Given the description of an element on the screen output the (x, y) to click on. 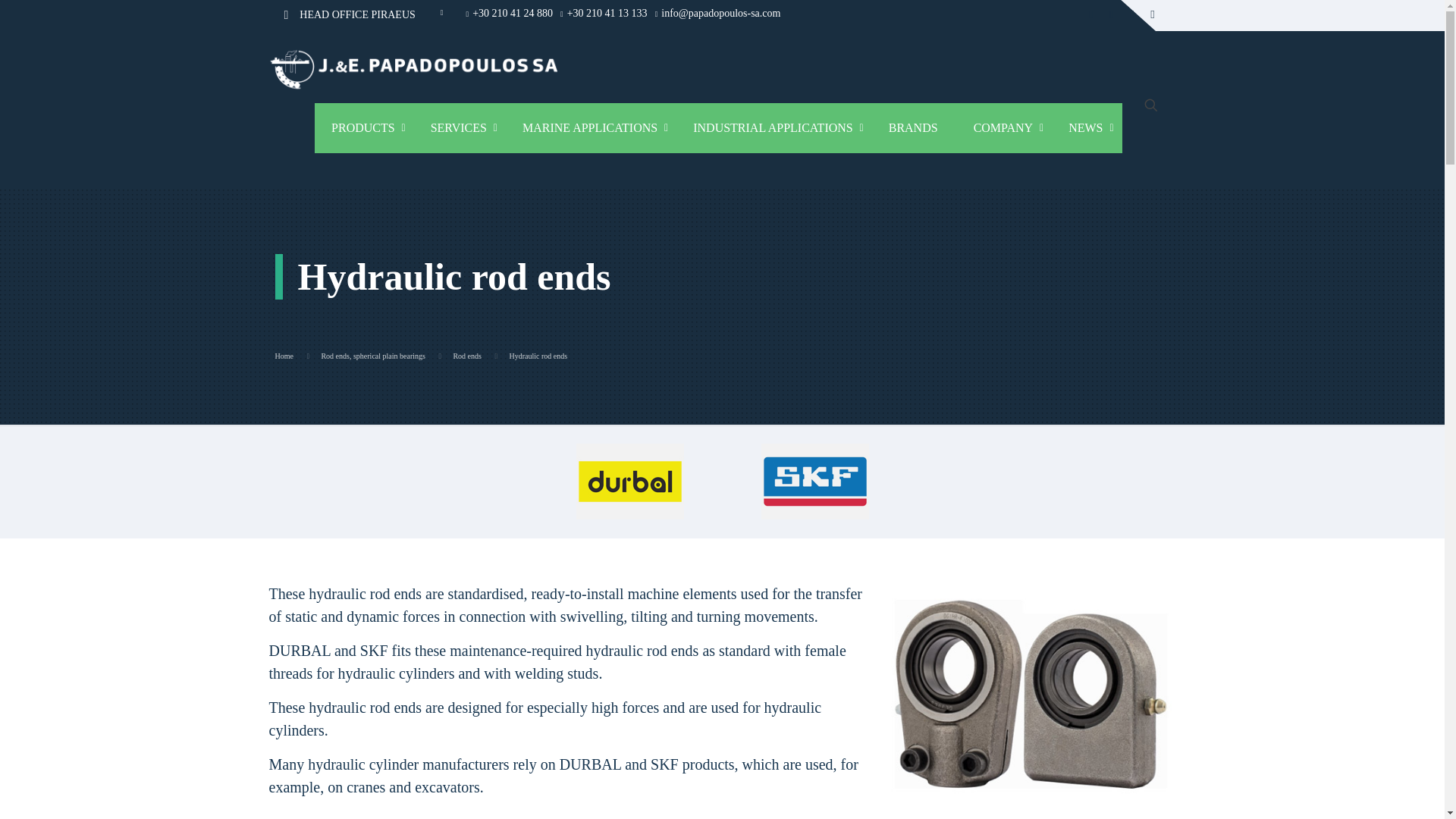
LinkedIn (1132, 14)
Twitter (1111, 14)
Instagram (1152, 14)
Facebook (1091, 14)
PRODUCTS (363, 128)
